Given the description of an element on the screen output the (x, y) to click on. 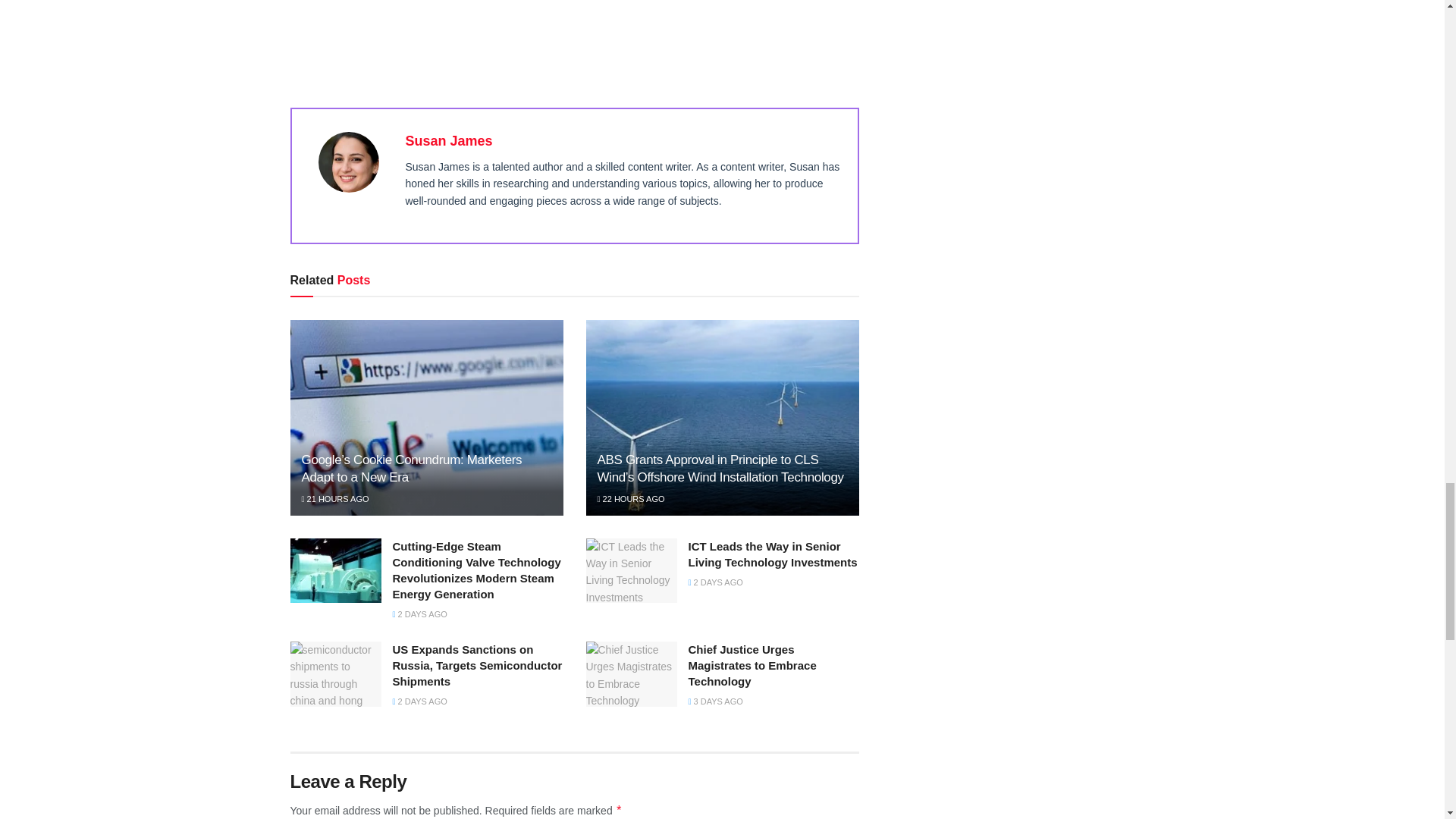
Advertisement (608, 34)
